Given the description of an element on the screen output the (x, y) to click on. 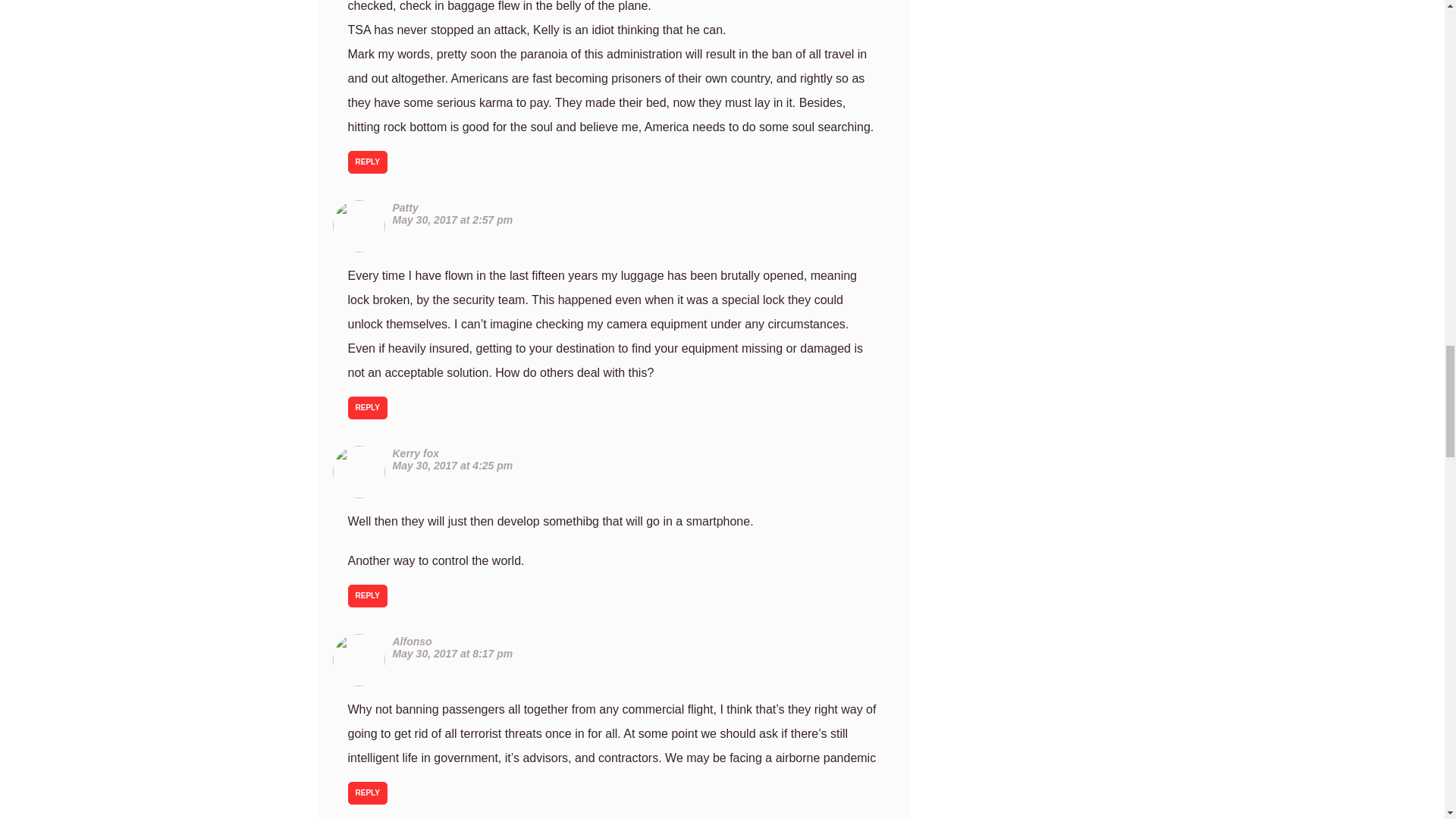
May 30, 2017 at 2:57 pm (453, 219)
REPLY (367, 595)
REPLY (367, 161)
REPLY (367, 407)
REPLY (367, 793)
May 30, 2017 at 4:25 pm (453, 465)
May 30, 2017 at 8:17 pm (453, 653)
